Given the description of an element on the screen output the (x, y) to click on. 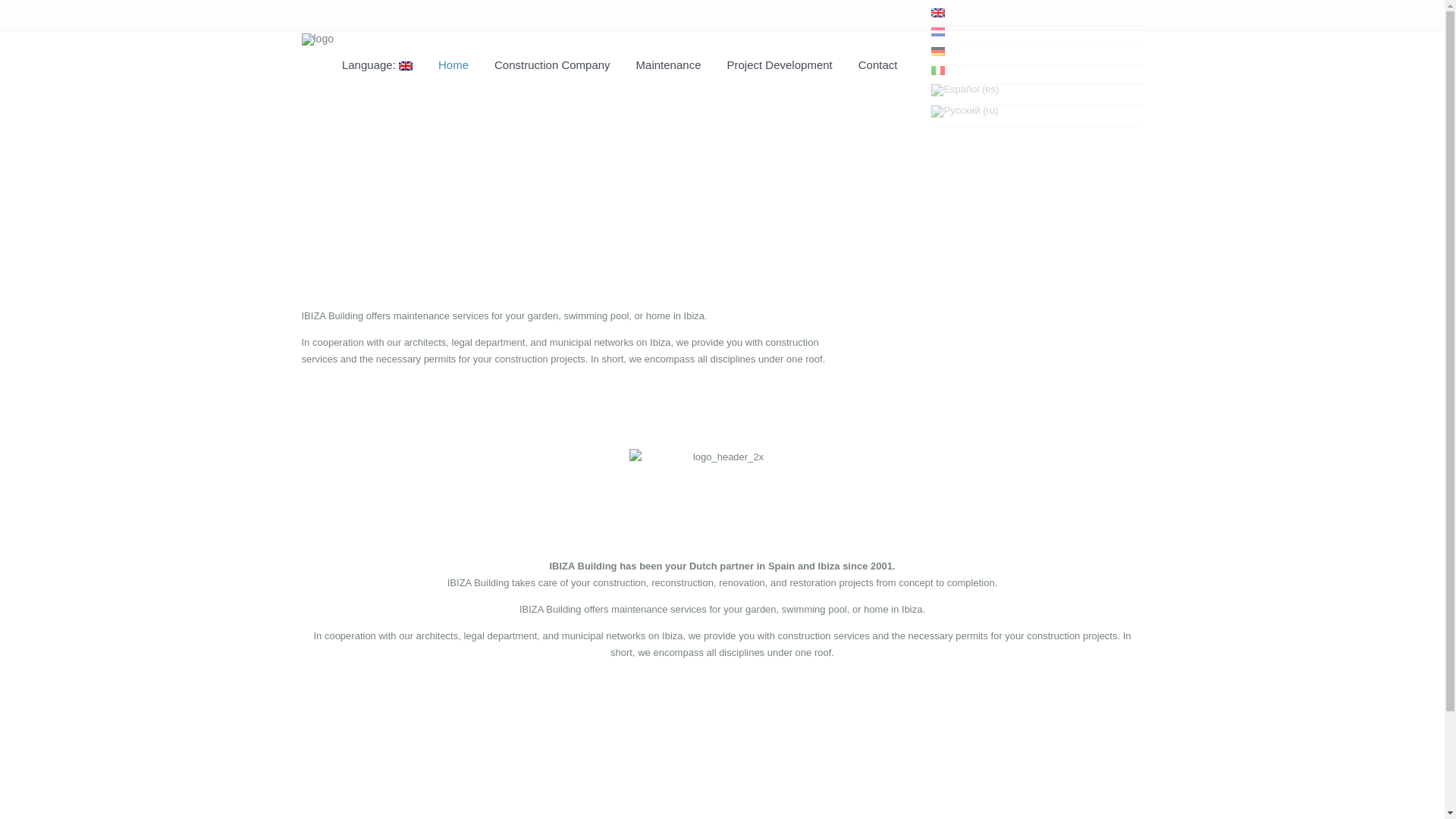
Home (32, 77)
Language:  (50, 38)
Contact (35, 231)
Project Development (64, 193)
Project Development (779, 70)
Maintenance (668, 70)
Contact (878, 70)
Construction Company (69, 116)
English (50, 38)
Home (453, 70)
